Given the description of an element on the screen output the (x, y) to click on. 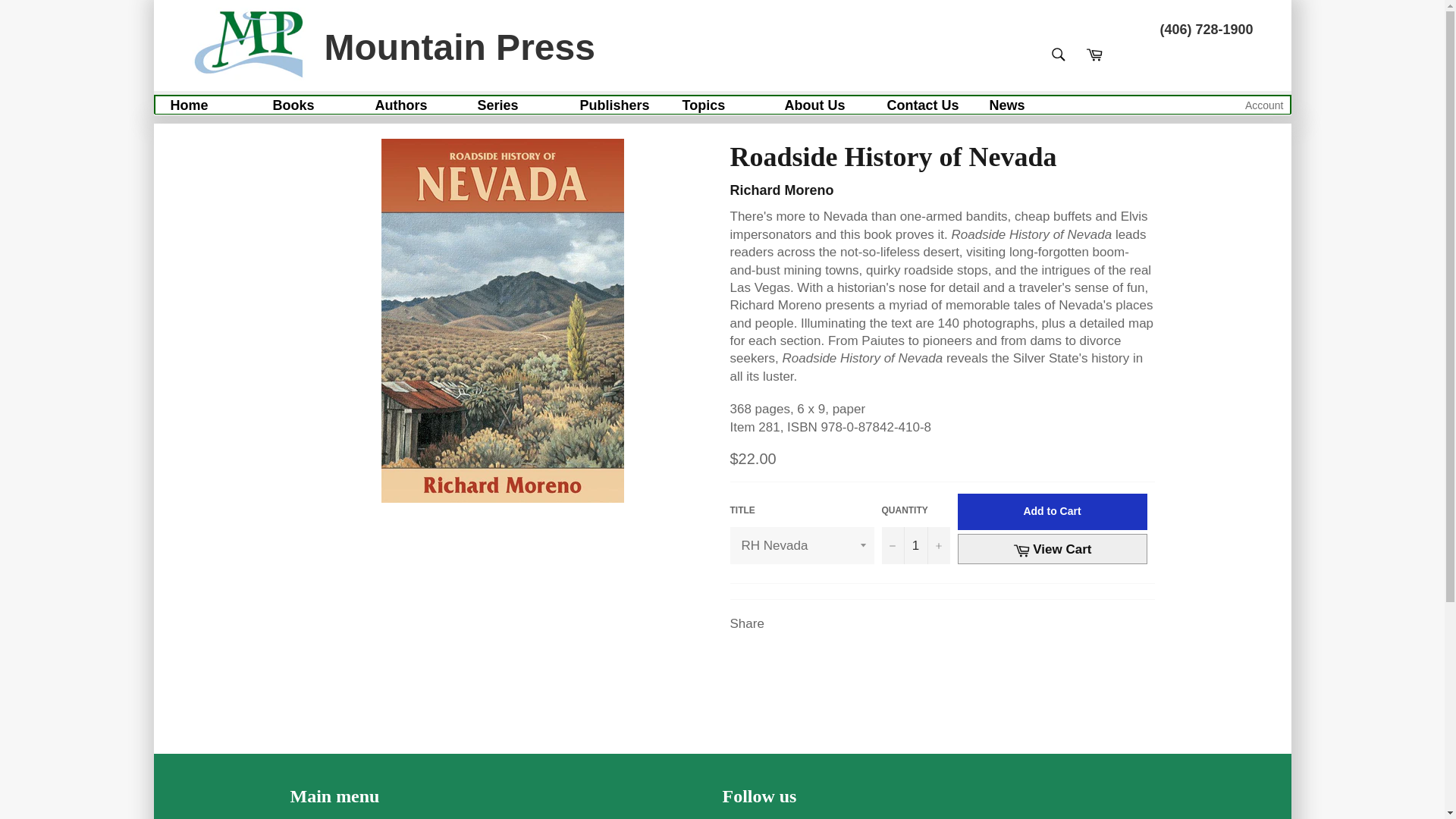
Authors (400, 105)
Mountain Press (392, 45)
1 (914, 545)
Cart (1093, 54)
Books (293, 105)
Contact Us (922, 105)
Topics (703, 105)
Home (189, 105)
Search (1058, 54)
About Us (814, 105)
